Given the description of an element on the screen output the (x, y) to click on. 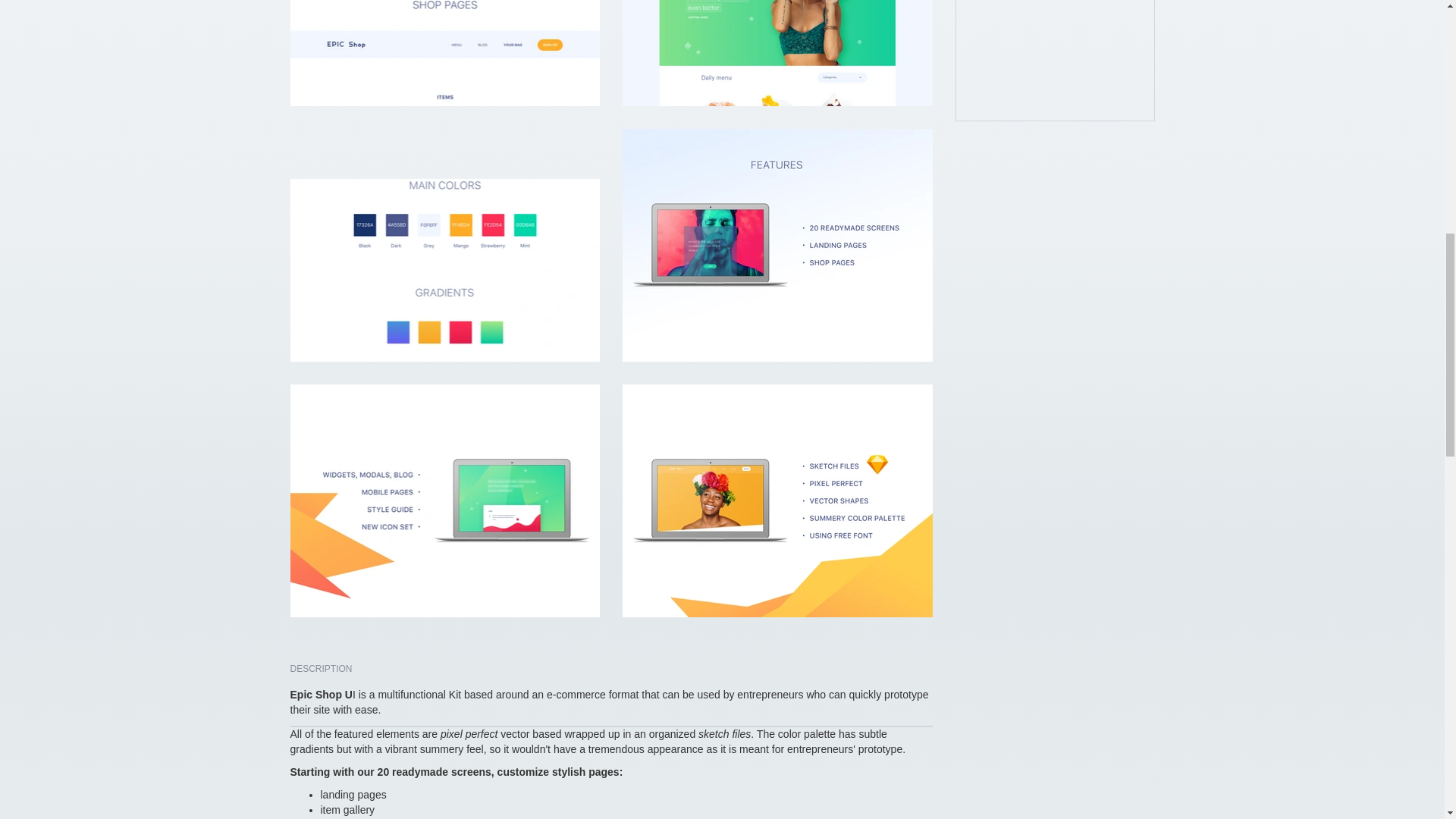
Advertisement (1056, 61)
